Given the description of an element on the screen output the (x, y) to click on. 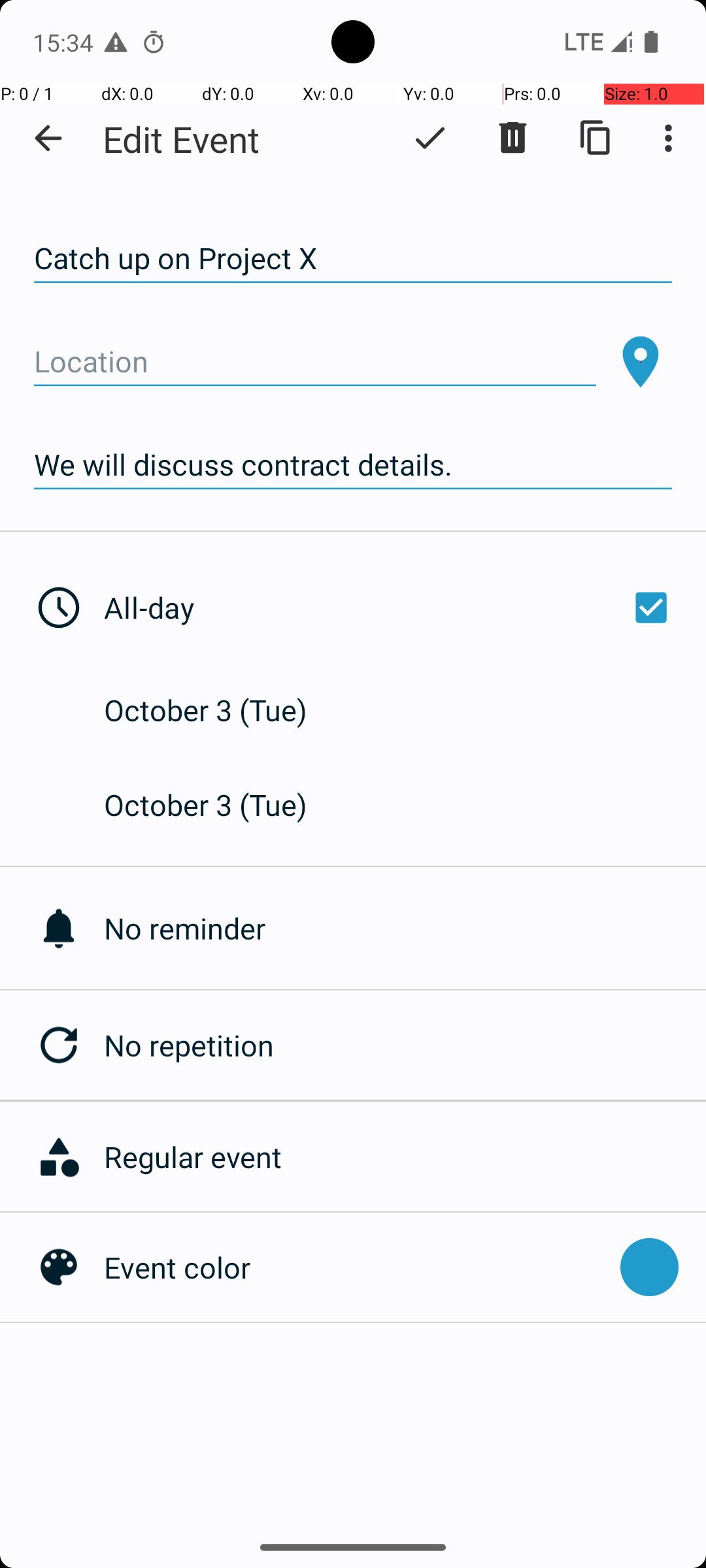
Edit Event Element type: android.widget.TextView (181, 138)
Duplicate event Element type: android.widget.Button (595, 137)
Catch up on Project X Element type: android.widget.EditText (352, 258)
Location Element type: android.widget.EditText (314, 361)
We will discuss contract details. Element type: android.widget.EditText (352, 465)
October 3 (Tue) Element type: android.widget.TextView (219, 709)
No reminder Element type: android.widget.TextView (404, 927)
No repetition Element type: android.widget.TextView (404, 1044)
All-day Element type: android.widget.CheckBox (390, 607)
Regular event Element type: android.widget.TextView (397, 1156)
Event color Element type: android.widget.TextView (354, 1266)
